Given the description of an element on the screen output the (x, y) to click on. 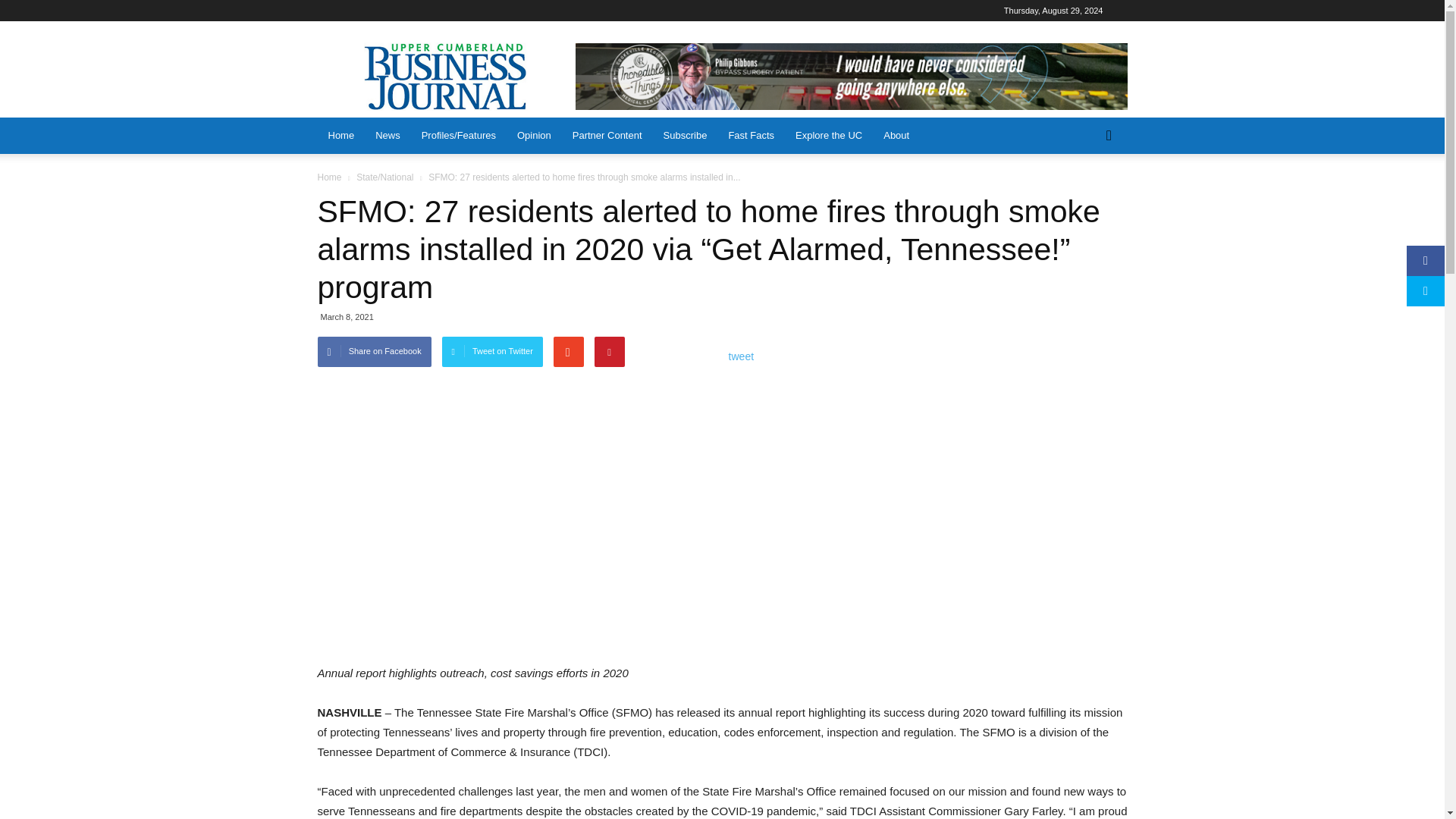
Home (341, 135)
Opinion (534, 135)
Your voice for business in the Upper Cumberland (446, 76)
News (387, 135)
